Given the description of an element on the screen output the (x, y) to click on. 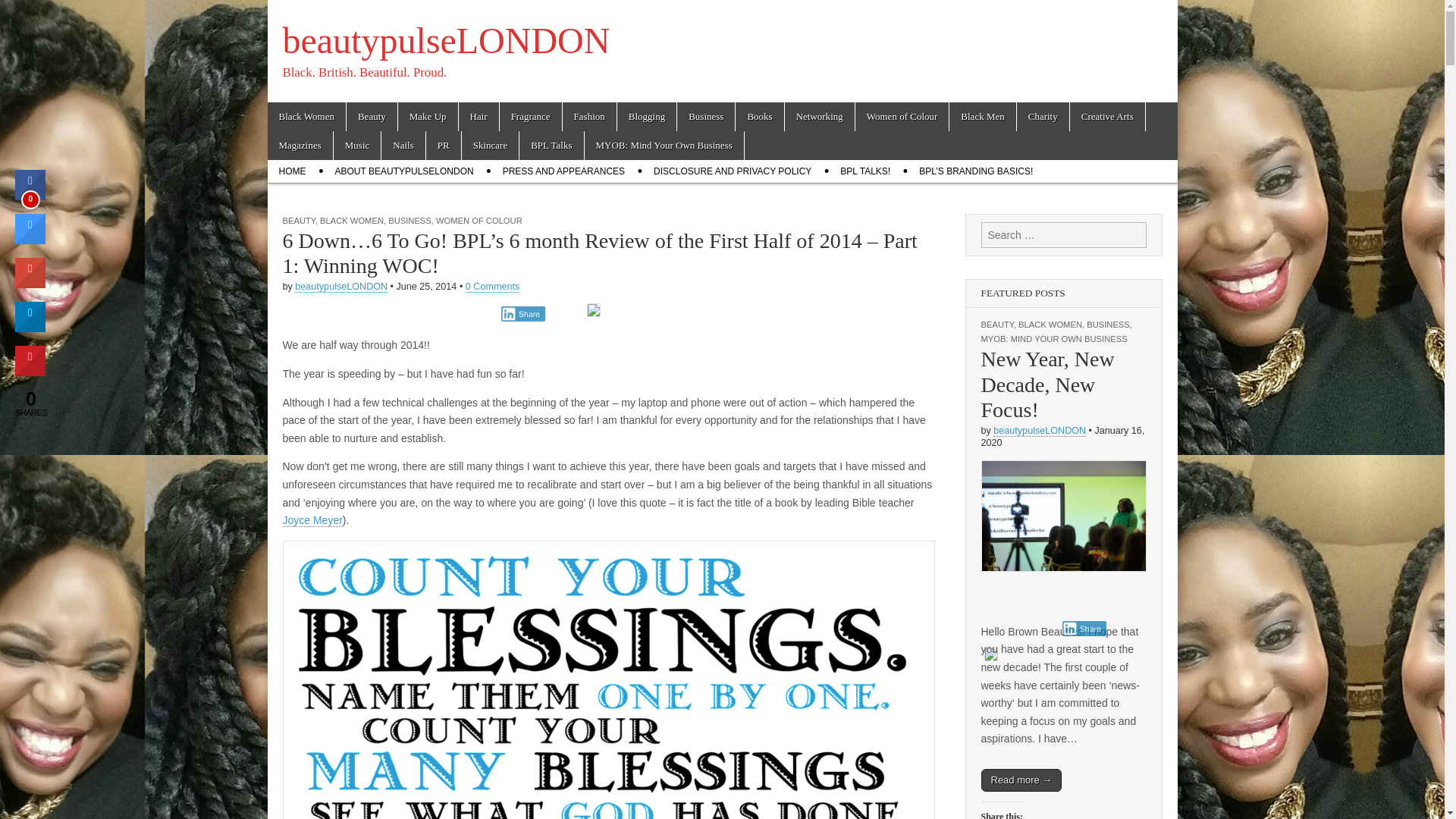
Creative Arts (1107, 116)
PR (443, 145)
BUSINESS (409, 220)
Beauty (371, 116)
Nails (403, 145)
Blogging (647, 116)
Hair (478, 116)
Fragrance (530, 116)
Black Women (305, 116)
BPL TALKS! (864, 170)
MYOB: Mind Your Own Business (664, 145)
DISCLOSURE AND PRIVACY POLICY (732, 170)
Skincare (489, 145)
